Given the description of an element on the screen output the (x, y) to click on. 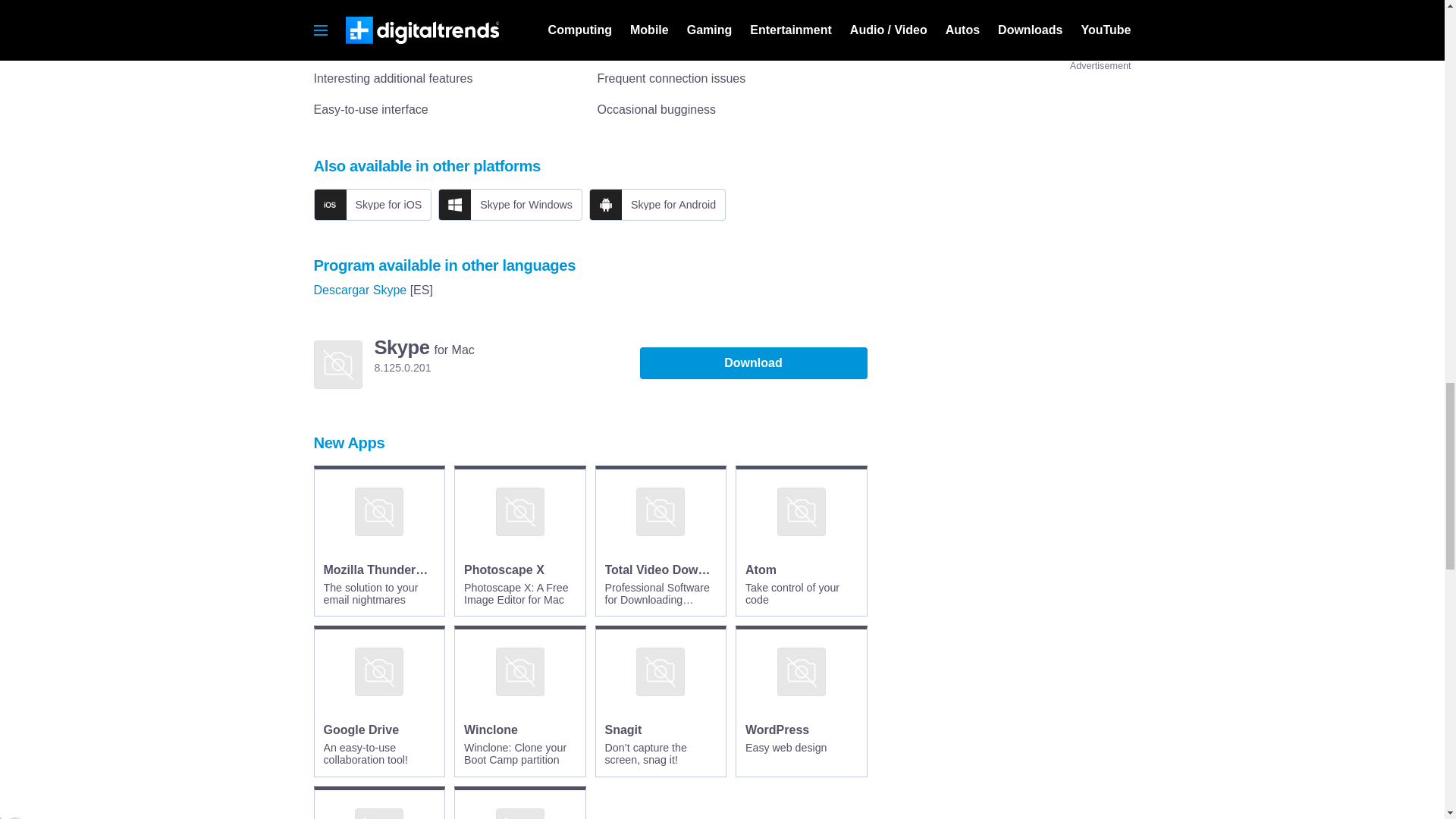
Skype for Android (657, 204)
Skype for iOS (373, 204)
Skype for Windows (510, 204)
